Given the description of an element on the screen output the (x, y) to click on. 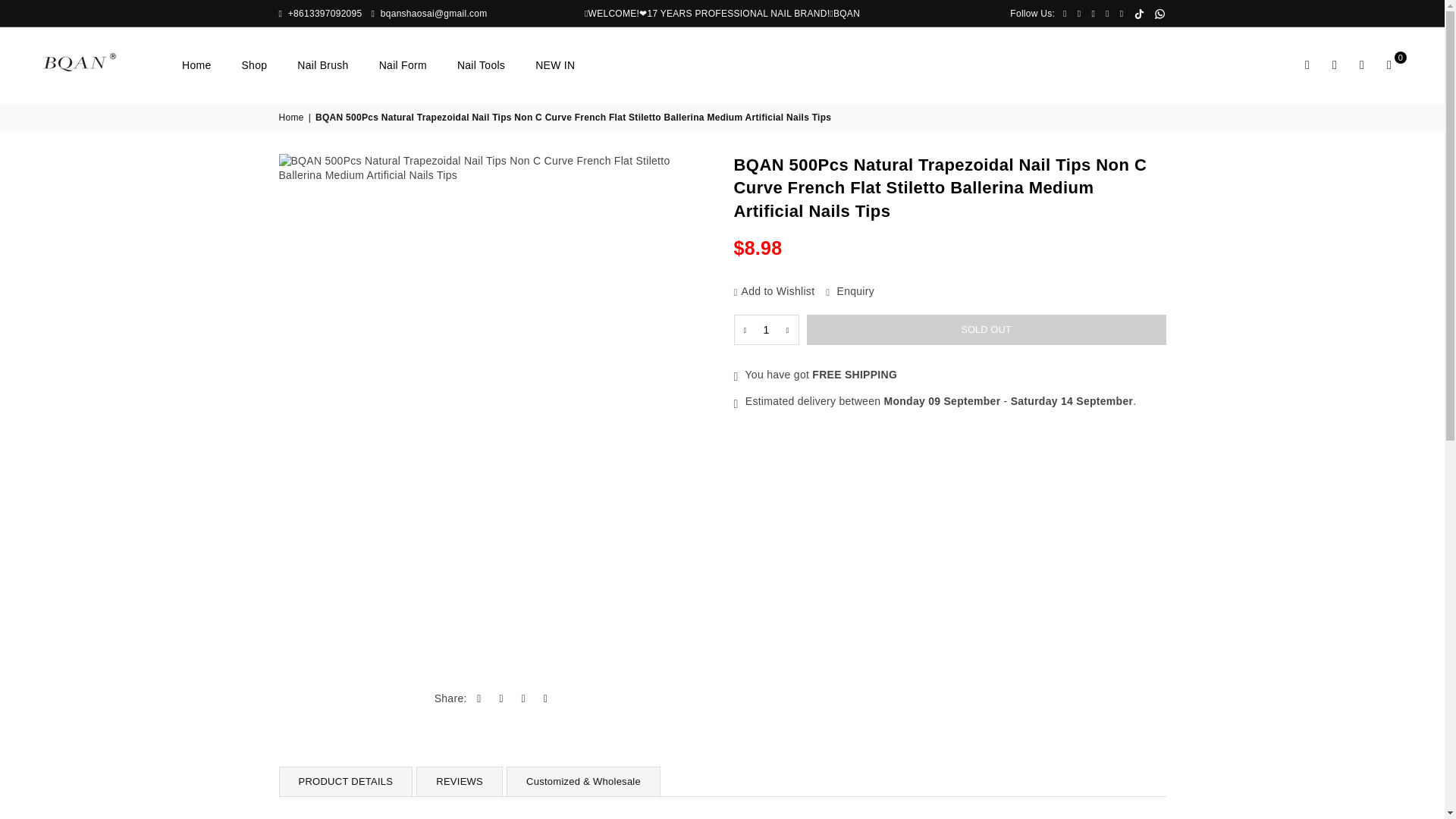
Nail Form (403, 64)
TikTok (1138, 13)
NEW IN (555, 64)
BQAN on Pinterest (1093, 13)
Back to the home page (292, 117)
BQAN on Facebook (1064, 13)
BQAN on Twitter (1078, 13)
Whatsapp (1160, 13)
Home (196, 64)
BQAN on TikTok (1138, 13)
